Given the description of an element on the screen output the (x, y) to click on. 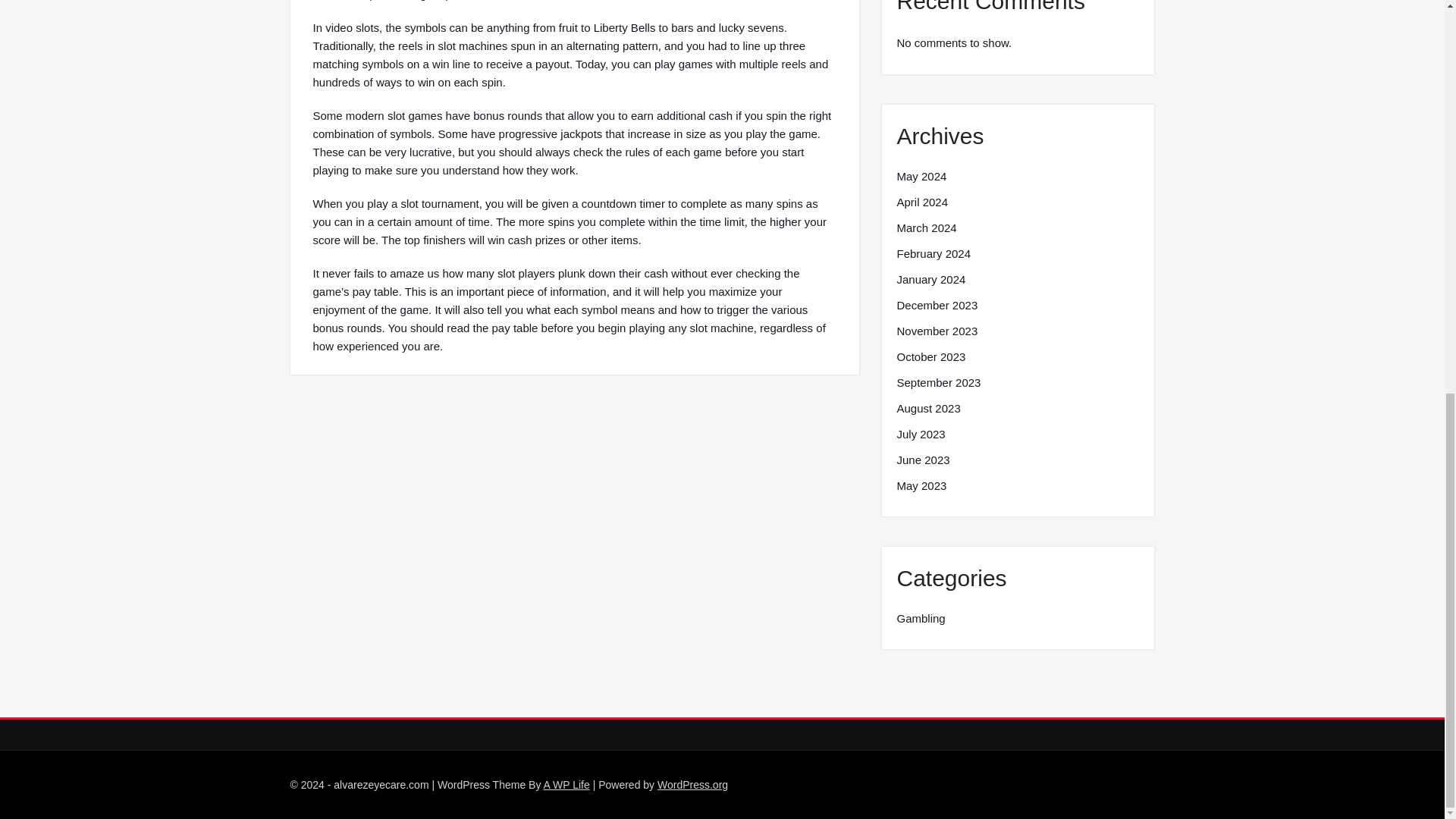
March 2024 (926, 228)
WordPress.org (693, 784)
May 2024 (921, 176)
January 2024 (930, 280)
April 2024 (921, 202)
February 2024 (933, 253)
November 2023 (936, 331)
Gambling (920, 618)
August 2023 (927, 408)
December 2023 (936, 305)
July 2023 (920, 434)
June 2023 (922, 460)
October 2023 (930, 357)
September 2023 (937, 382)
A WP Life (566, 784)
